Given the description of an element on the screen output the (x, y) to click on. 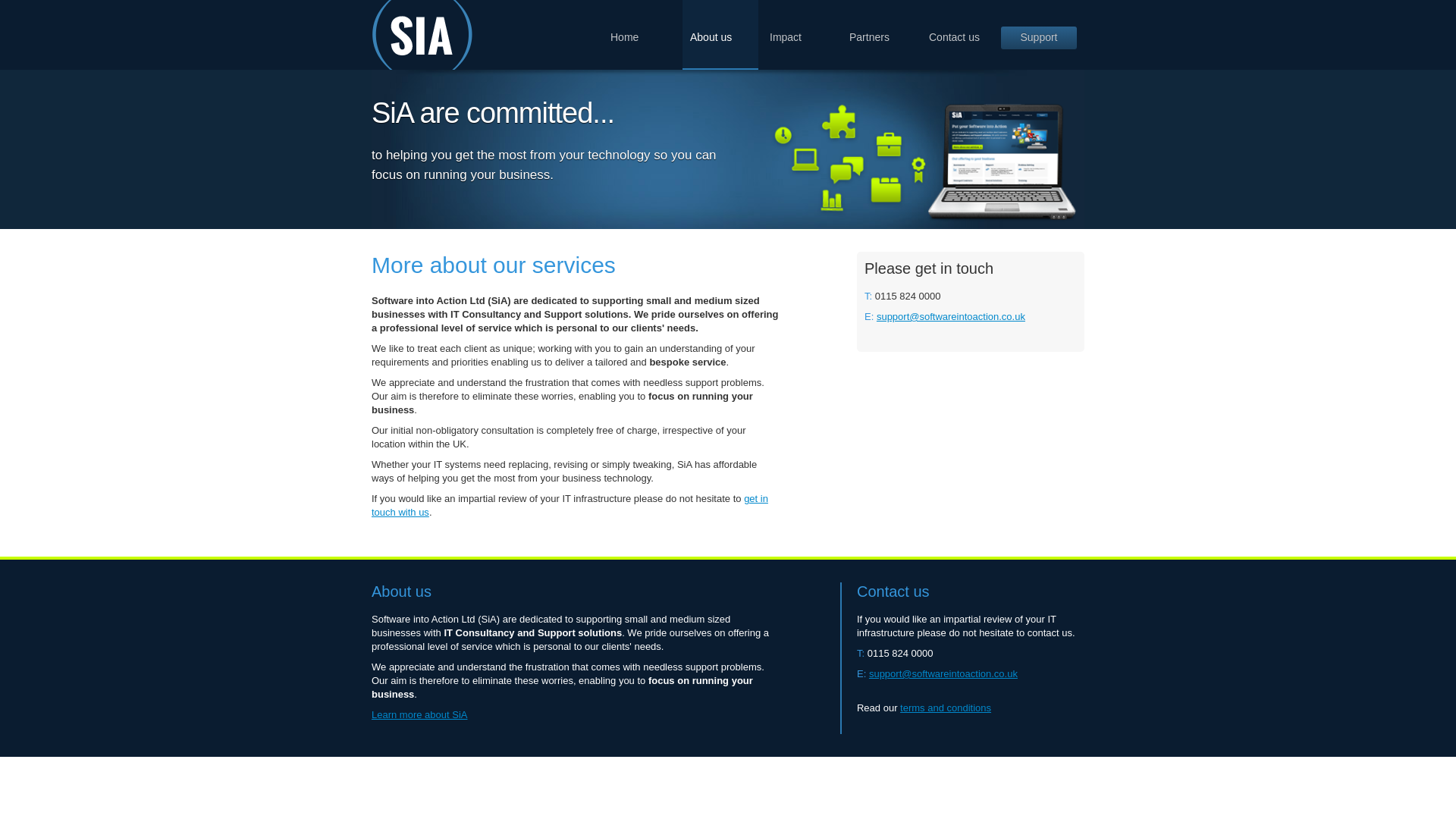
get in touch with us (569, 505)
Support (1039, 37)
Learn more about SiA (419, 714)
Impact (799, 33)
terms and conditions (945, 707)
Software into Action (422, 34)
Contact us (959, 33)
Contact Software into Action (569, 505)
About us (720, 34)
Partners (879, 33)
Home (640, 33)
